Given the description of an element on the screen output the (x, y) to click on. 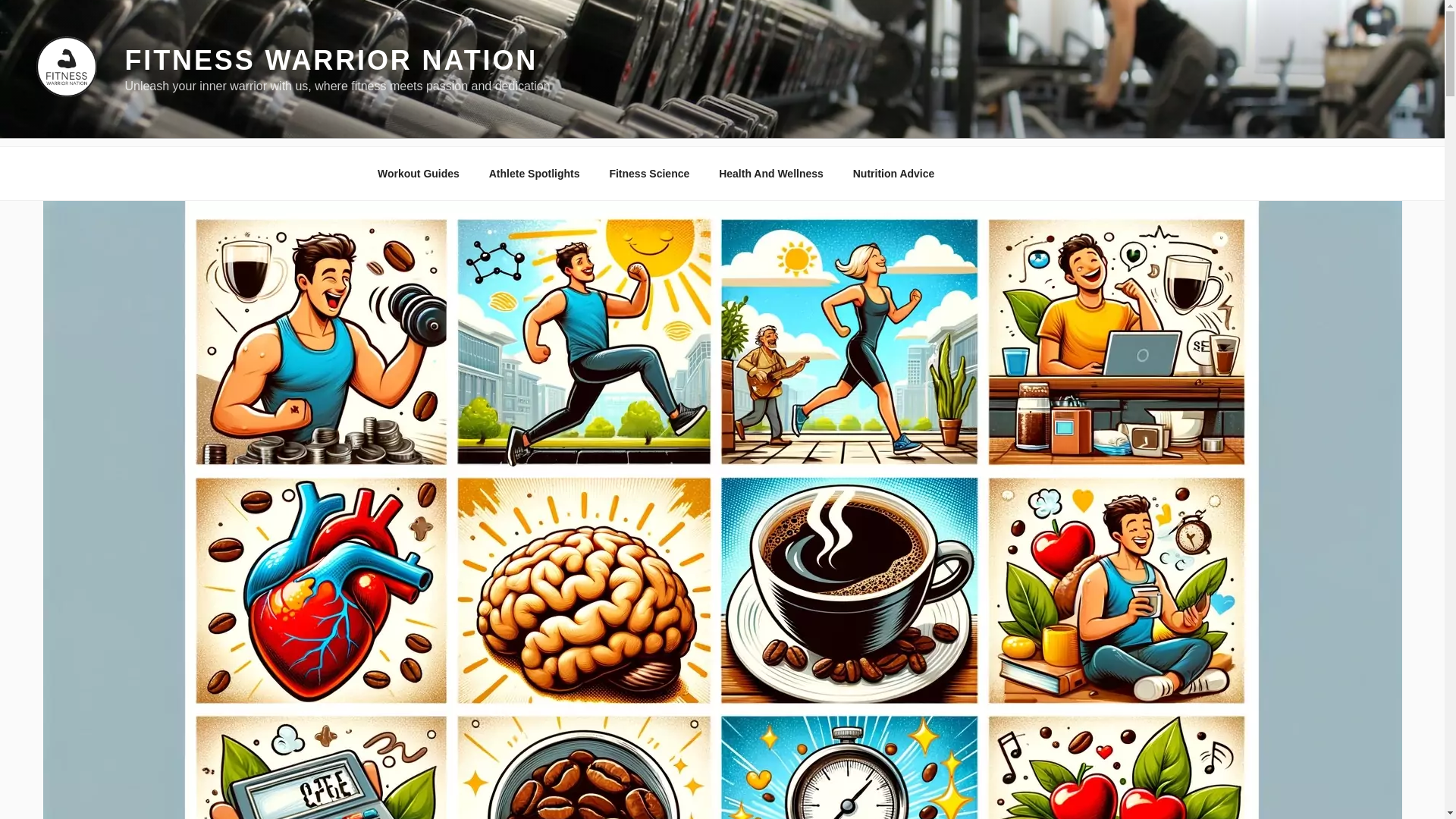
Fitness Science (649, 172)
Health And Wellness (771, 172)
Workout Guides (417, 172)
Athlete Spotlights (534, 172)
FITNESS WARRIOR NATION (330, 60)
Nutrition Advice (893, 172)
